Given the description of an element on the screen output the (x, y) to click on. 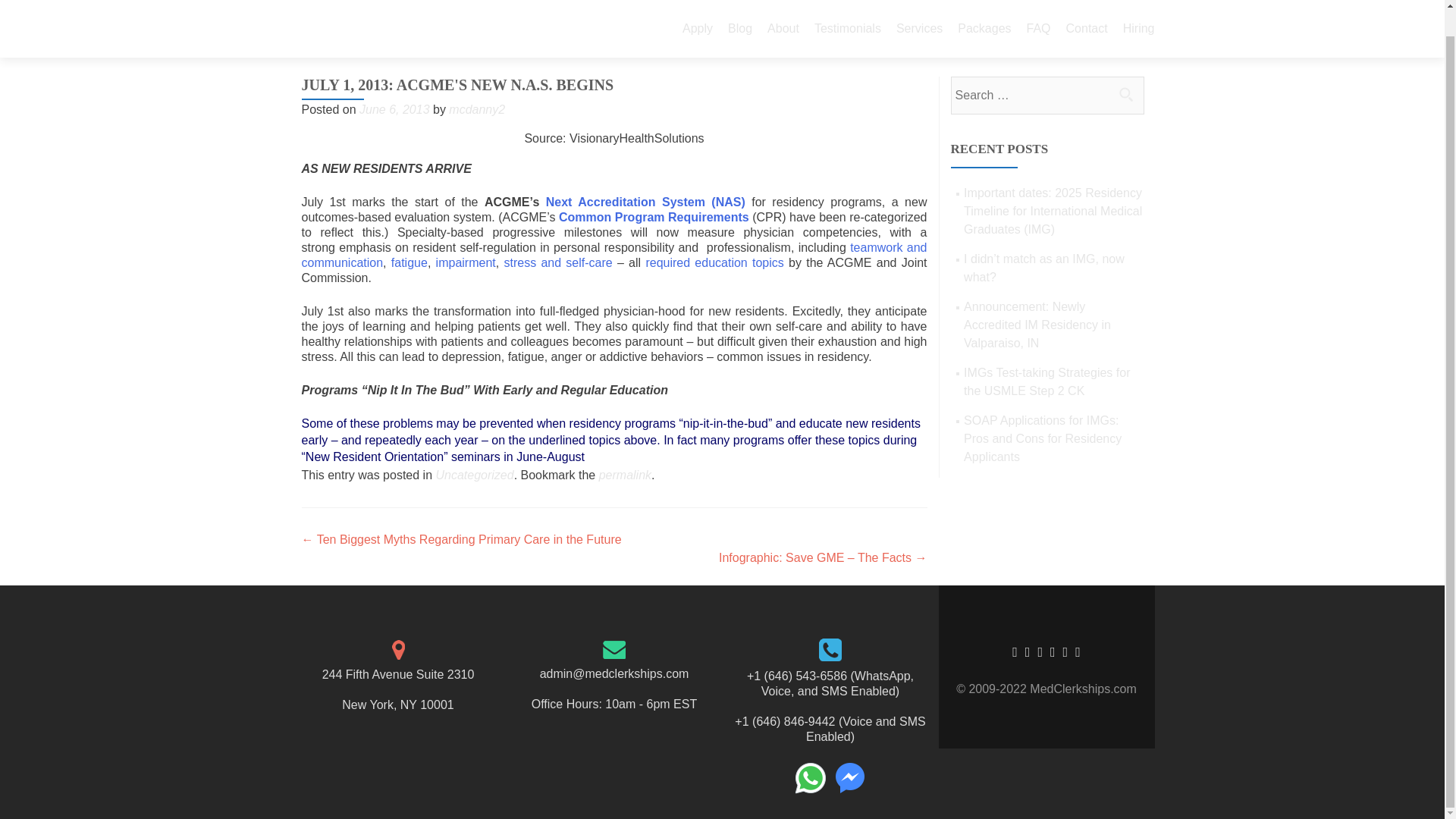
Hiring (1138, 7)
Services (919, 7)
Packages (984, 7)
required education topics (714, 262)
WhatsApp Us (810, 778)
stress and self-care (557, 262)
mcdanny2 (476, 109)
permalink (624, 474)
Testimonials (846, 7)
Contact (1086, 7)
Blog (740, 7)
Common Program Requirements (654, 216)
impairment (465, 262)
Uncategorized (474, 474)
June 6, 2013 (394, 109)
